Given the description of an element on the screen output the (x, y) to click on. 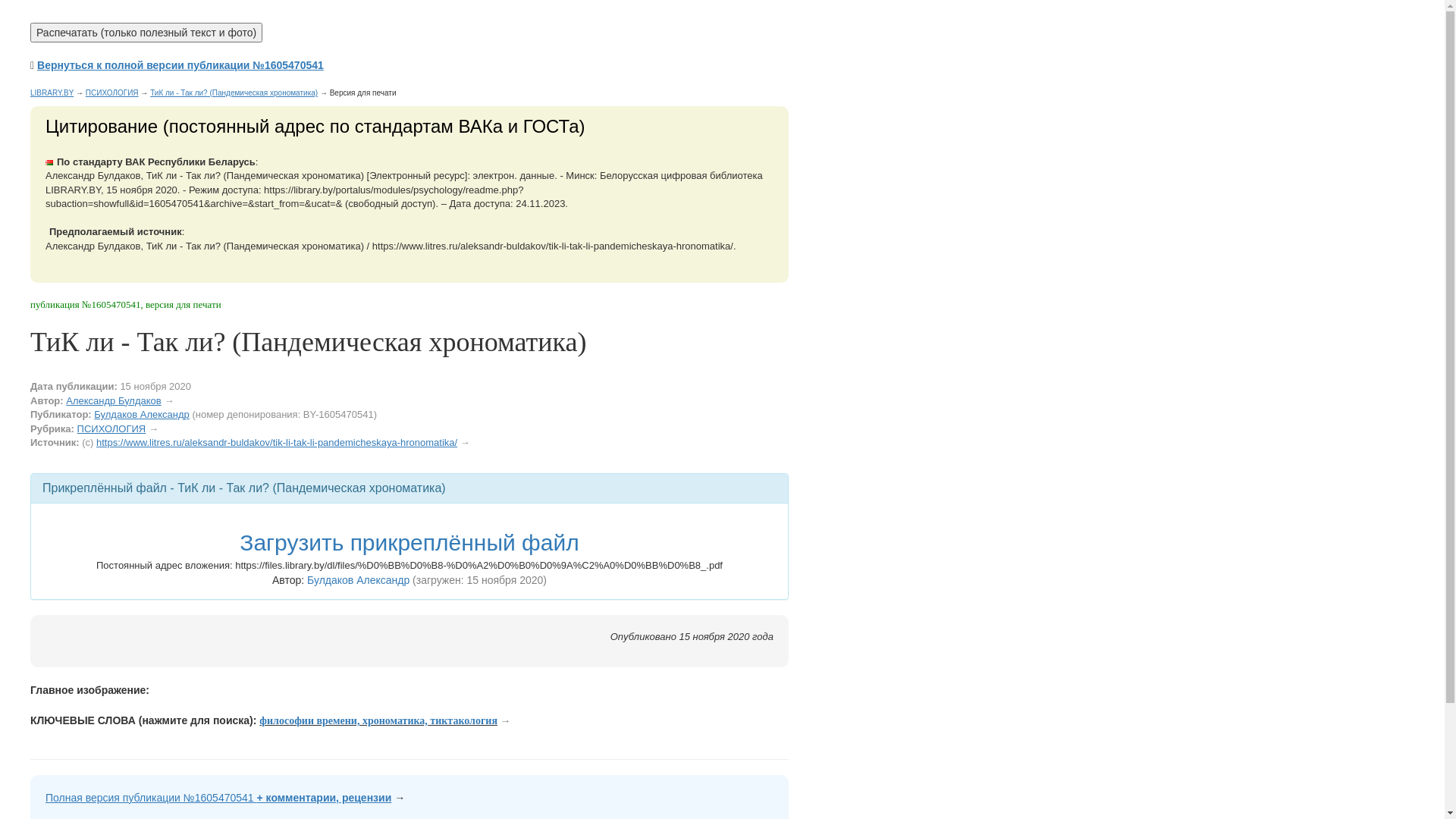
LIBRARY.BY Element type: text (51, 92)
